Given the description of an element on the screen output the (x, y) to click on. 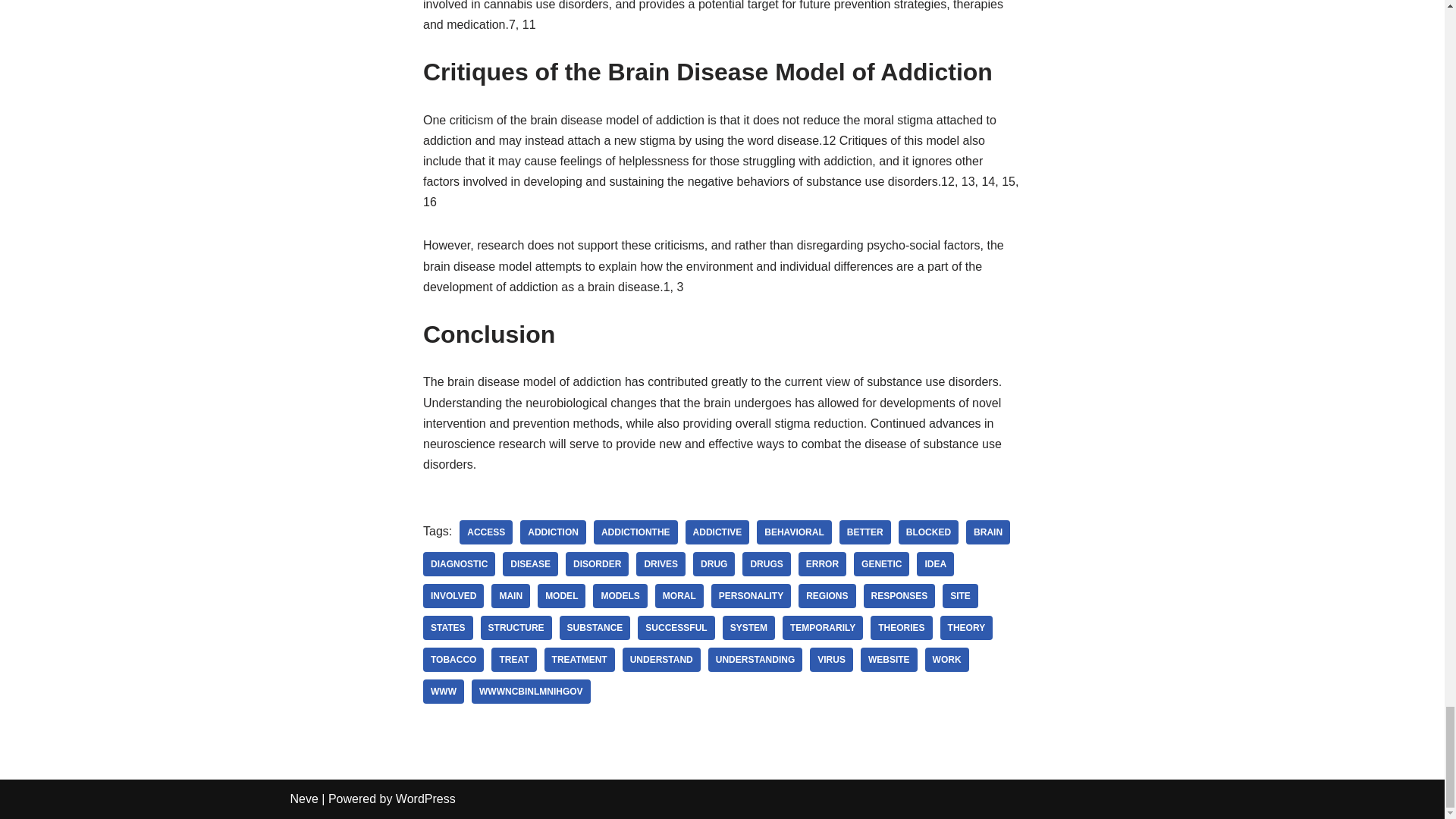
SITE (960, 595)
ACCESS (486, 532)
DRIVES (660, 564)
DRUG (714, 564)
MORAL (679, 595)
access (486, 532)
behavioral (794, 532)
BETTER (865, 532)
GENETIC (880, 564)
MODEL (561, 595)
